Given the description of an element on the screen output the (x, y) to click on. 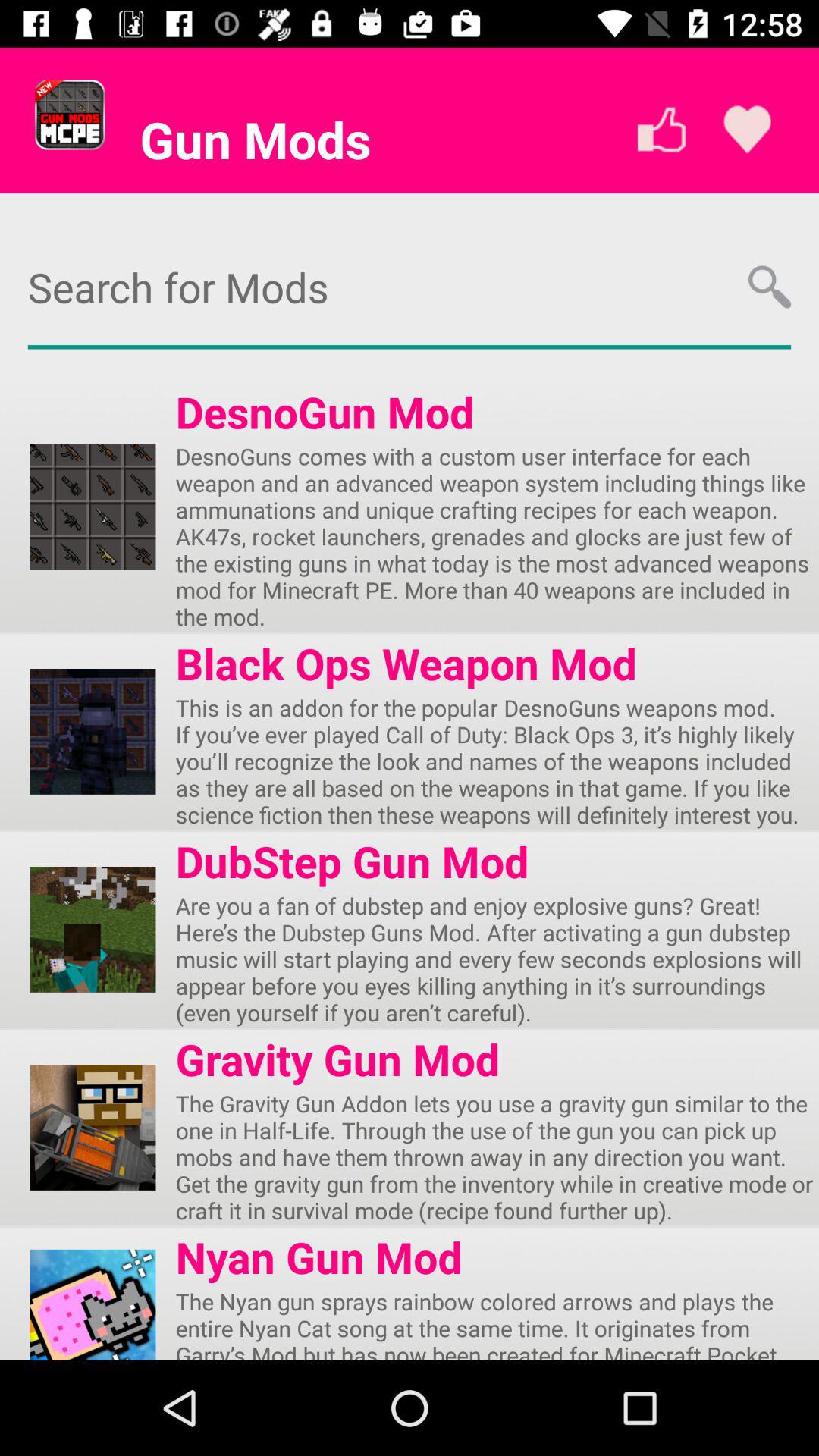
select app above the dubstep gun mod item (497, 760)
